Given the description of an element on the screen output the (x, y) to click on. 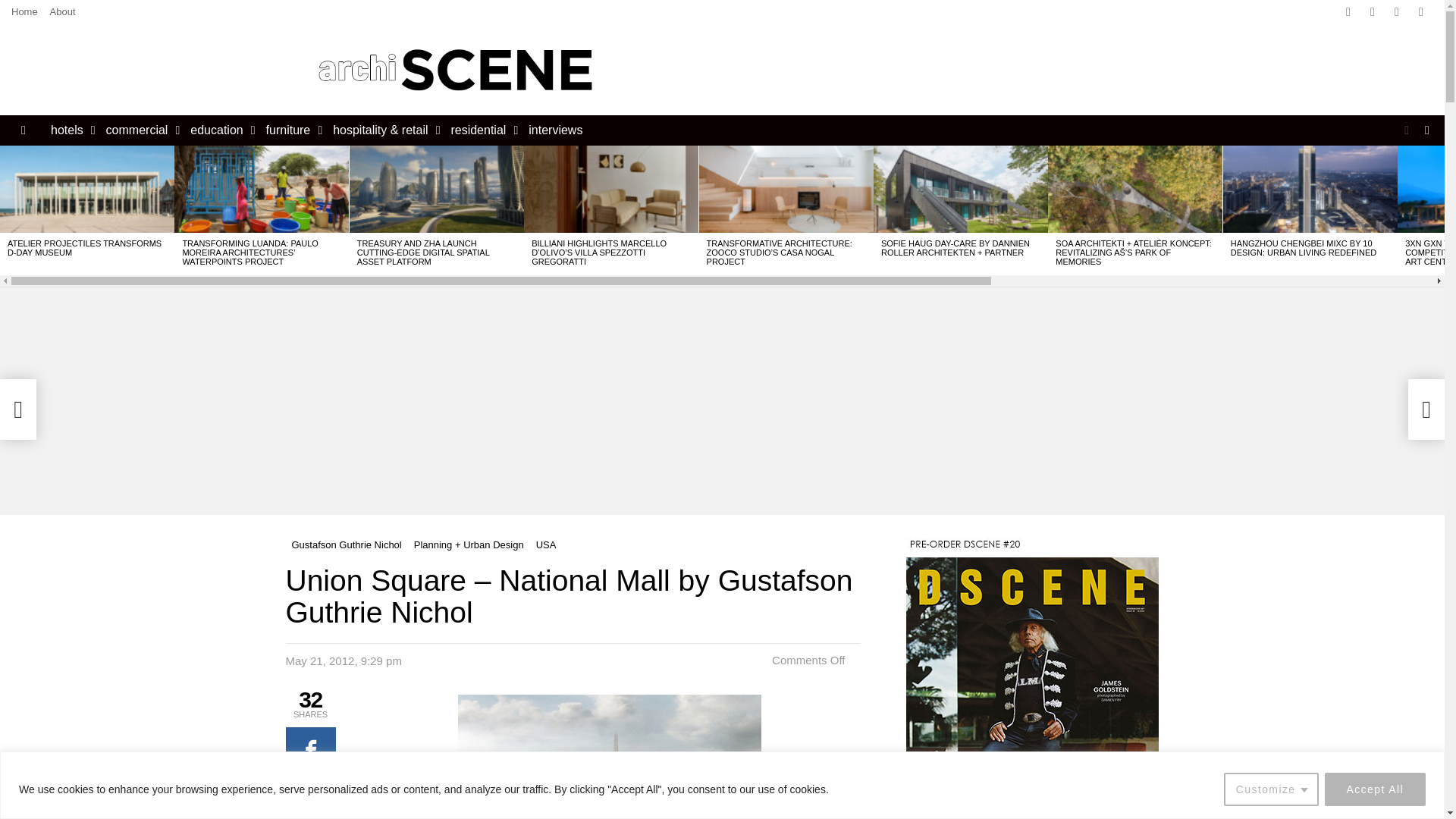
instagram (1396, 11)
About (62, 12)
Twitter (1371, 11)
commercial (139, 129)
Customize (1271, 788)
education (218, 129)
pinterest (1420, 11)
Advertisement (917, 70)
Home (24, 12)
hotels (69, 129)
Facebook (1347, 11)
Menu (22, 130)
Accept All (1374, 788)
